Given the description of an element on the screen output the (x, y) to click on. 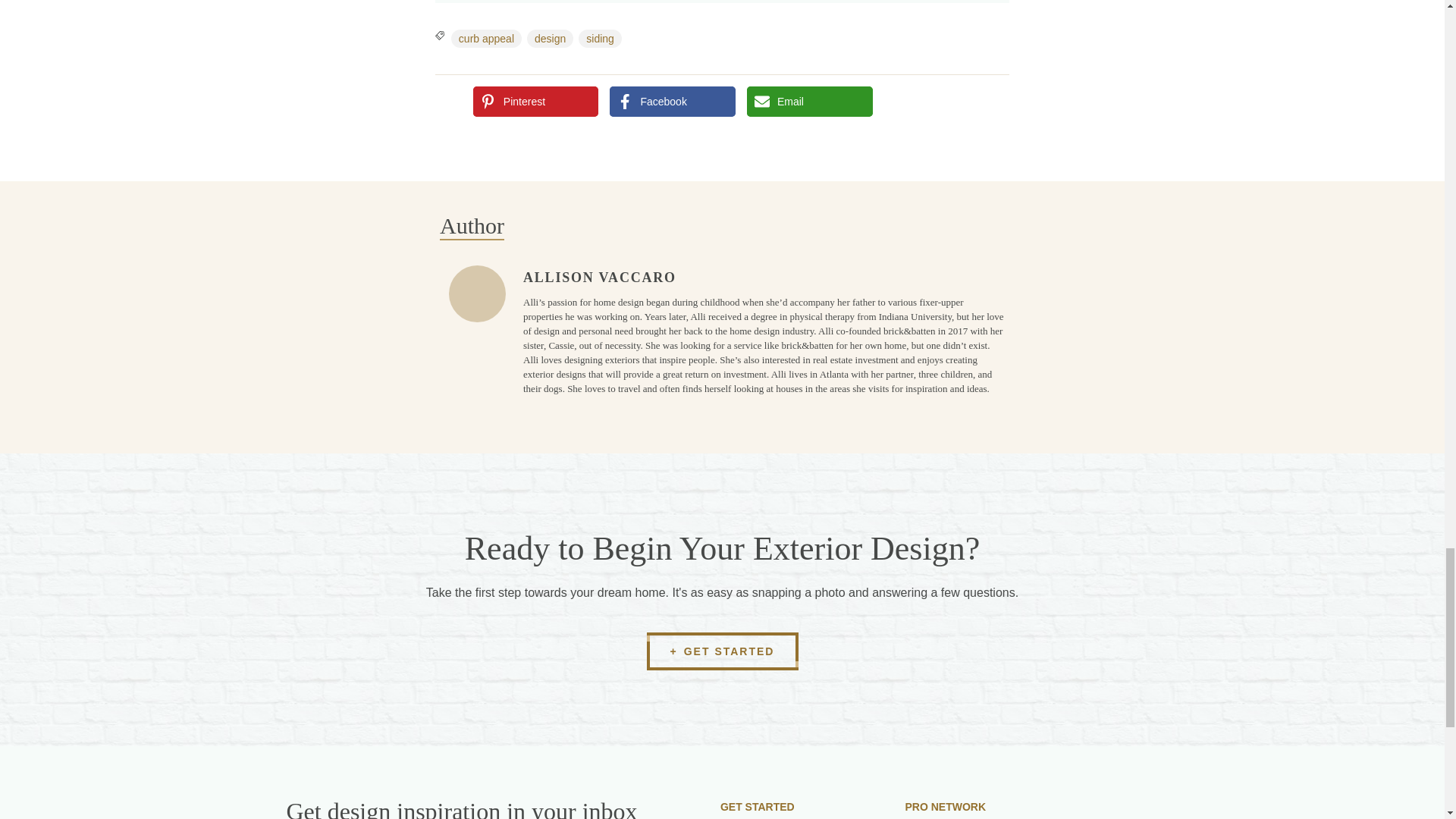
curb appeal (486, 36)
Posts by Allison Vaccaro (599, 277)
GET STARTED (721, 651)
EXTERIOR DESIGN SERVICES (797, 817)
Email (809, 101)
ALLISON VACCARO (599, 277)
Facebook (672, 101)
design (550, 36)
Pinterest (535, 101)
siding (599, 36)
